Given the description of an element on the screen output the (x, y) to click on. 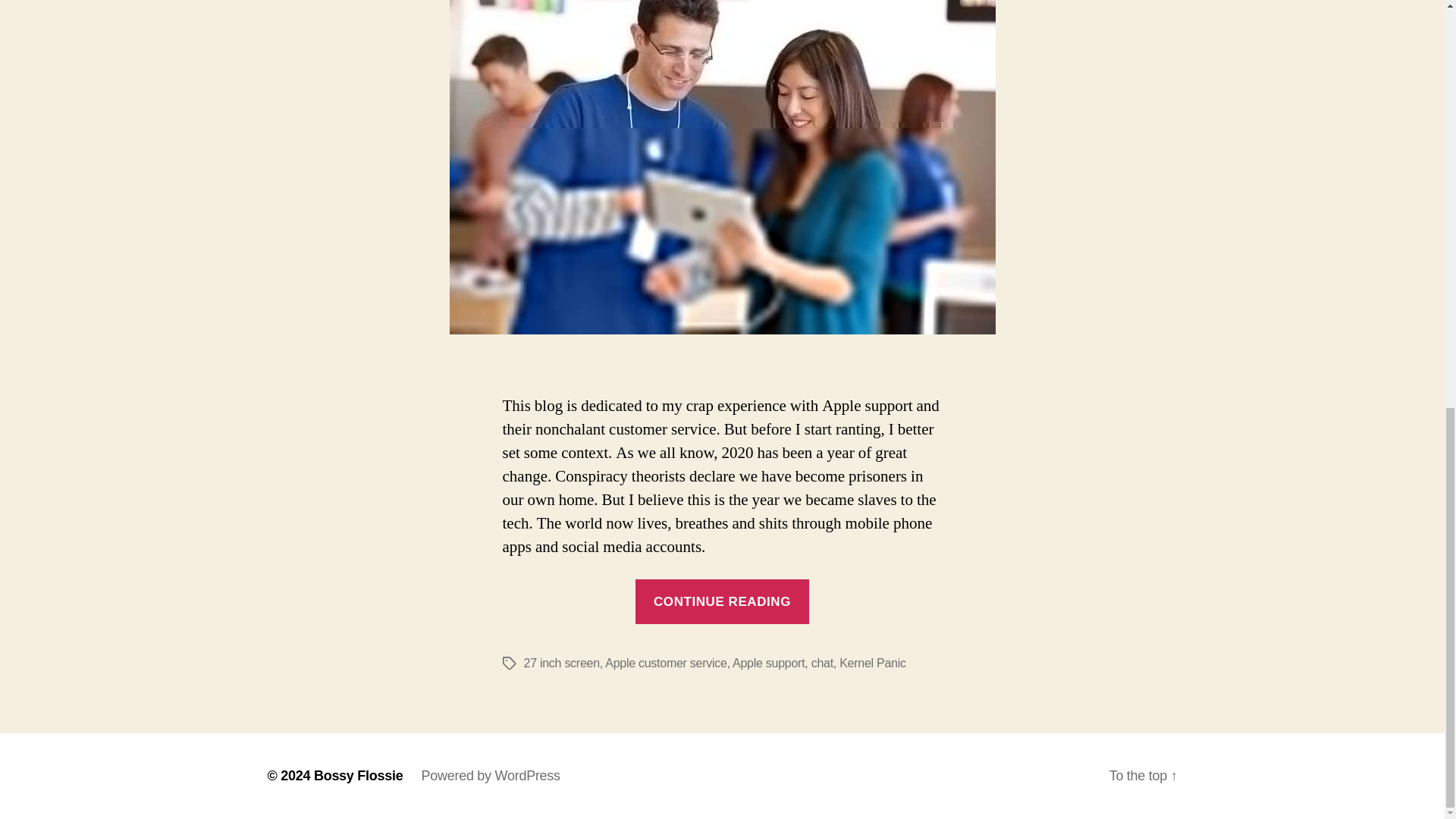
Bossy Flossie (358, 775)
27 inch screen (560, 662)
Apple support (768, 662)
Powered by WordPress (489, 775)
chat (821, 662)
Apple customer service (665, 662)
Kernel Panic (872, 662)
